Given the description of an element on the screen output the (x, y) to click on. 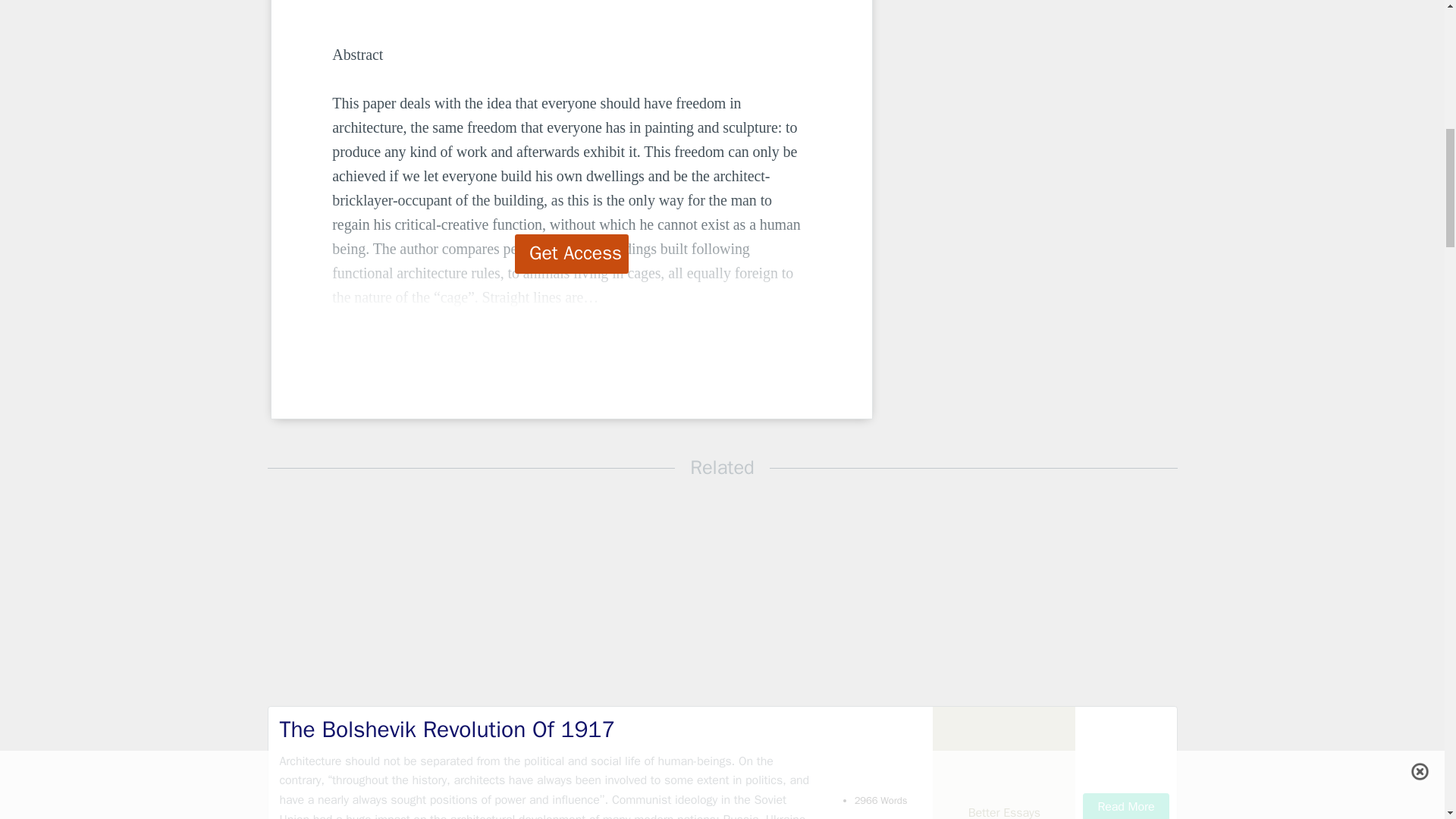
Read More (1126, 806)
Get Access (571, 253)
The Bolshevik Revolution Of 1917 (548, 729)
